Given the description of an element on the screen output the (x, y) to click on. 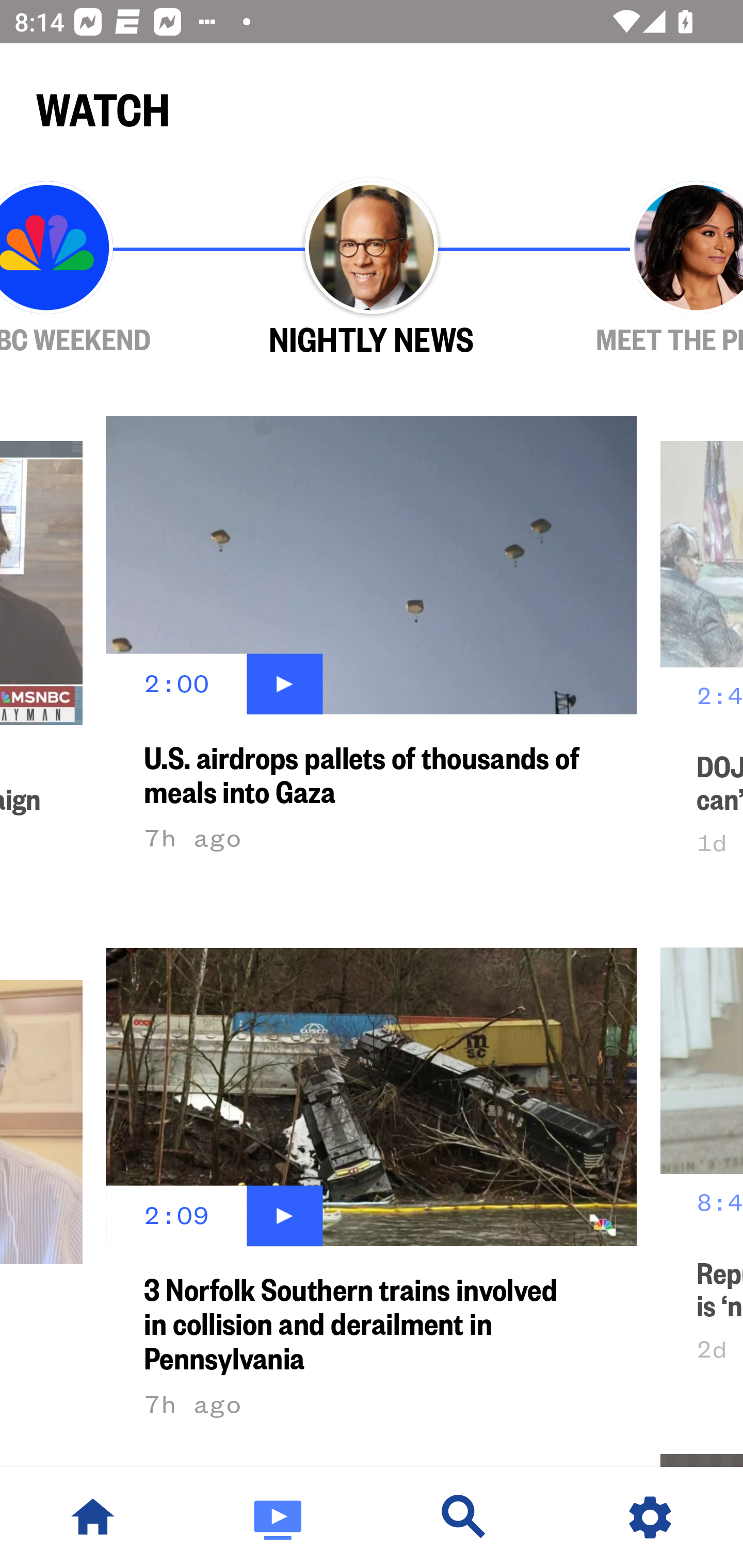
MSNBC WEEKEND (104, 268)
NIGHTLY NEWS (371, 268)
MEET THE PRESS (638, 268)
NBC News Home (92, 1517)
Discover (464, 1517)
Settings (650, 1517)
